Given the description of an element on the screen output the (x, y) to click on. 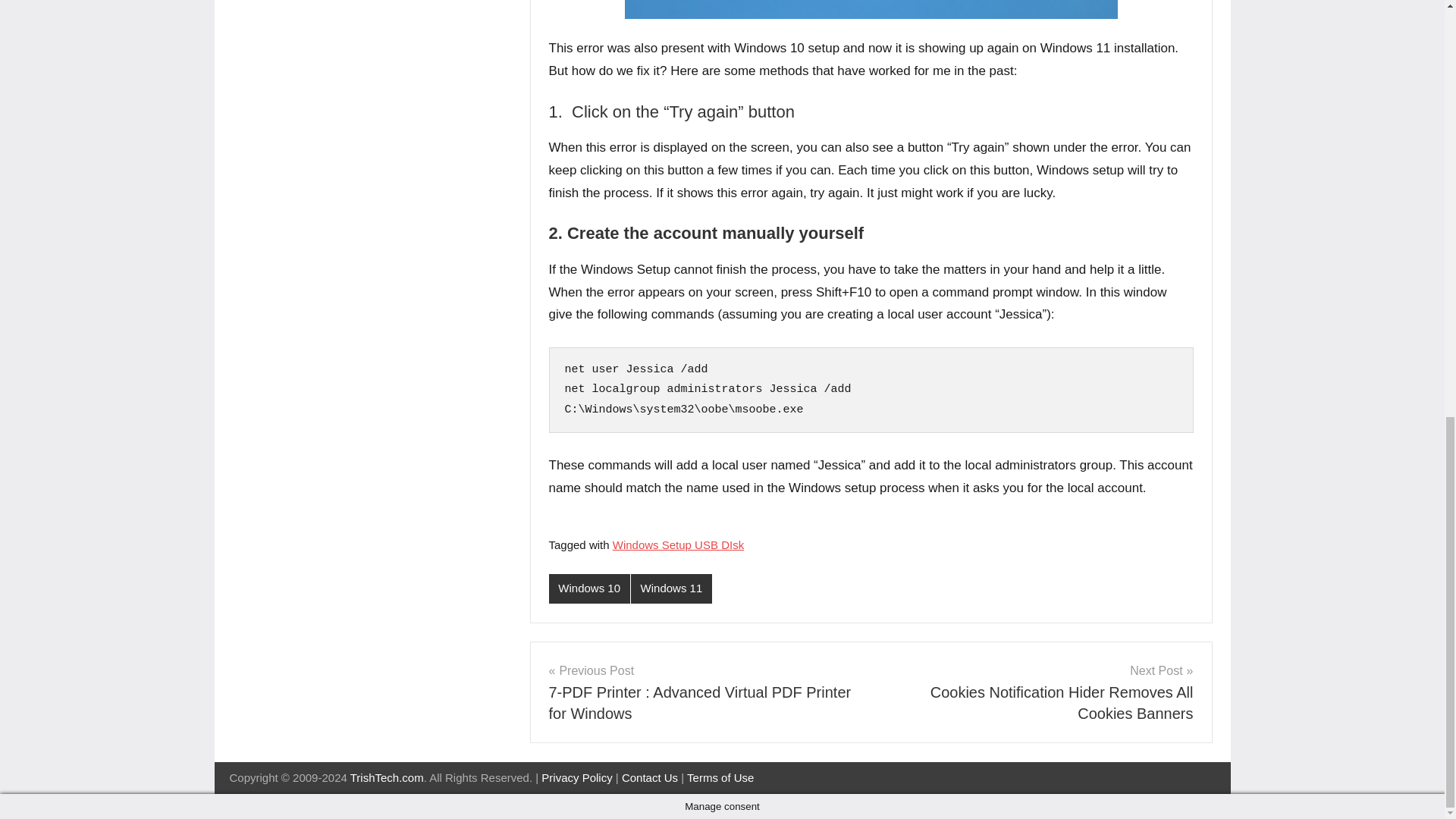
Privacy Policy (576, 777)
Windows Setup USB DIsk (678, 544)
Contact Us (649, 777)
Windows 11 (670, 588)
TrishTech.com (386, 777)
Windows 10 (589, 588)
Terms of Use (720, 777)
